Given the description of an element on the screen output the (x, y) to click on. 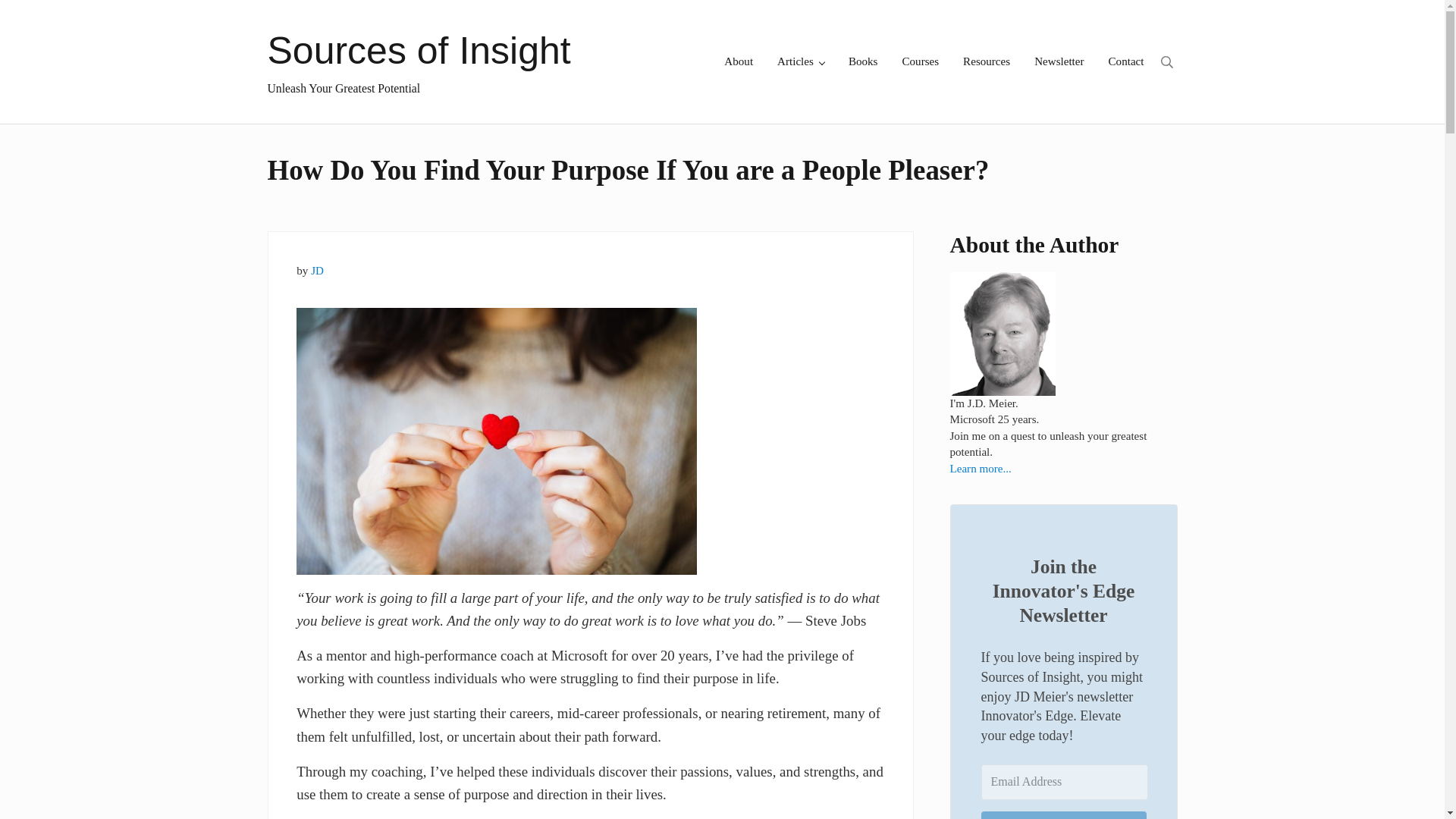
Contact (1126, 61)
Courses (919, 61)
JD (317, 270)
Newsletter (1059, 61)
About (738, 61)
Resources (986, 61)
Sources of Insight (418, 50)
Books (862, 61)
Articles (800, 61)
